Given the description of an element on the screen output the (x, y) to click on. 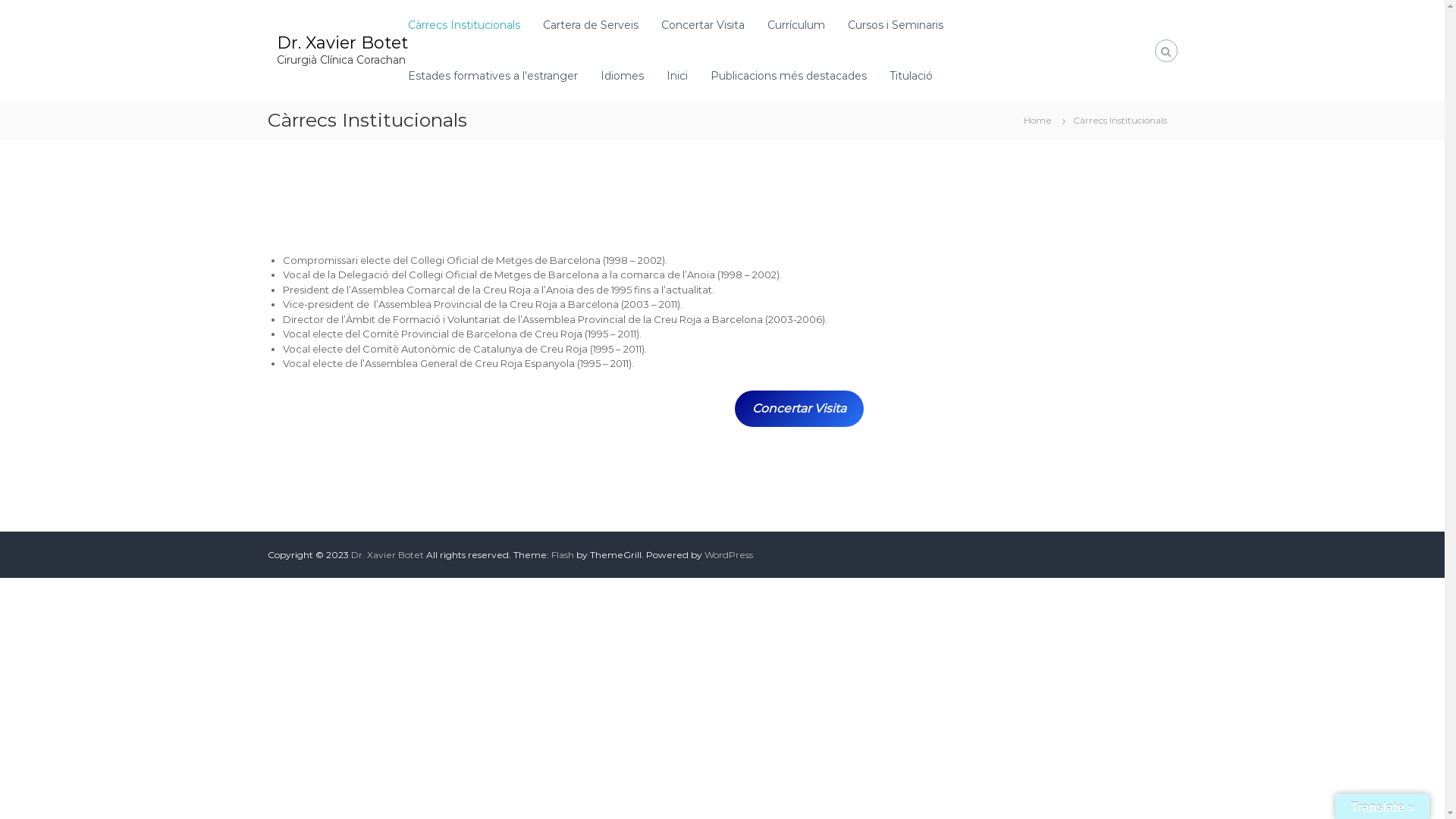
Cursos i Seminaris Element type: text (895, 24)
Concertar Visita Element type: text (798, 407)
Concertar Visita Element type: text (702, 24)
Inici Element type: text (676, 75)
Idiomes Element type: text (621, 75)
Dr. Xavier Botet Element type: text (341, 41)
WordPress Element type: text (727, 554)
Cartera de Serveis Element type: text (590, 24)
Flash Element type: text (561, 554)
Home Element type: text (1037, 119)
Dr. Xavier Botet Element type: text (386, 554)
